Given the description of an element on the screen output the (x, y) to click on. 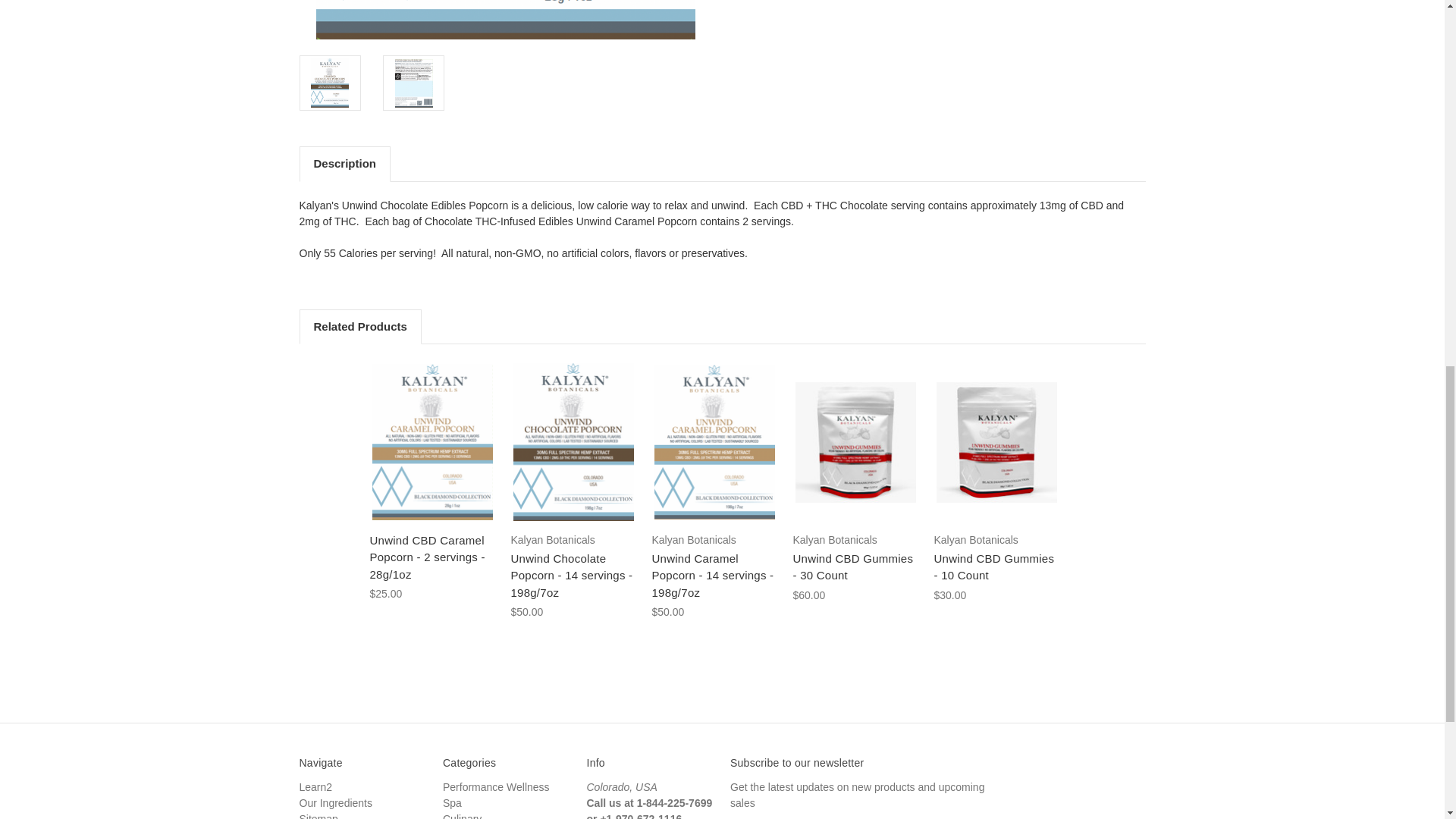
Unwind CBD Gummies - 30 Count (854, 442)
Unwind CBD Gummies - 10 Count (996, 442)
Unwind Caramel Popcorn (713, 442)
